Given the description of an element on the screen output the (x, y) to click on. 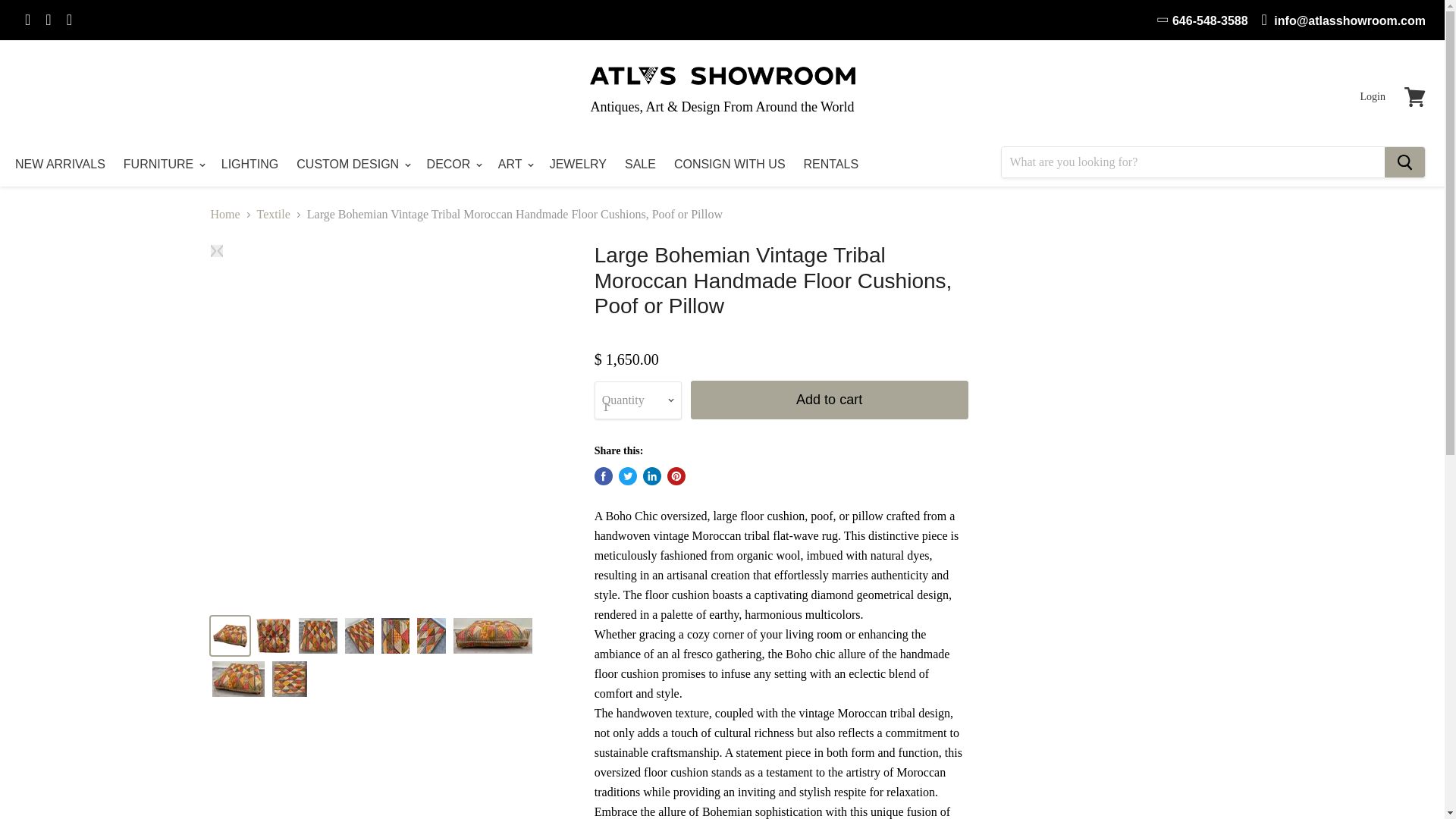
CUSTOM DESIGN (351, 164)
646-548-3588 (1202, 19)
DECOR (453, 164)
Login (1372, 97)
FURNITURE (163, 164)
NEW ARRIVALS (60, 164)
LIGHTING (250, 164)
View cart (1414, 96)
